Given the description of an element on the screen output the (x, y) to click on. 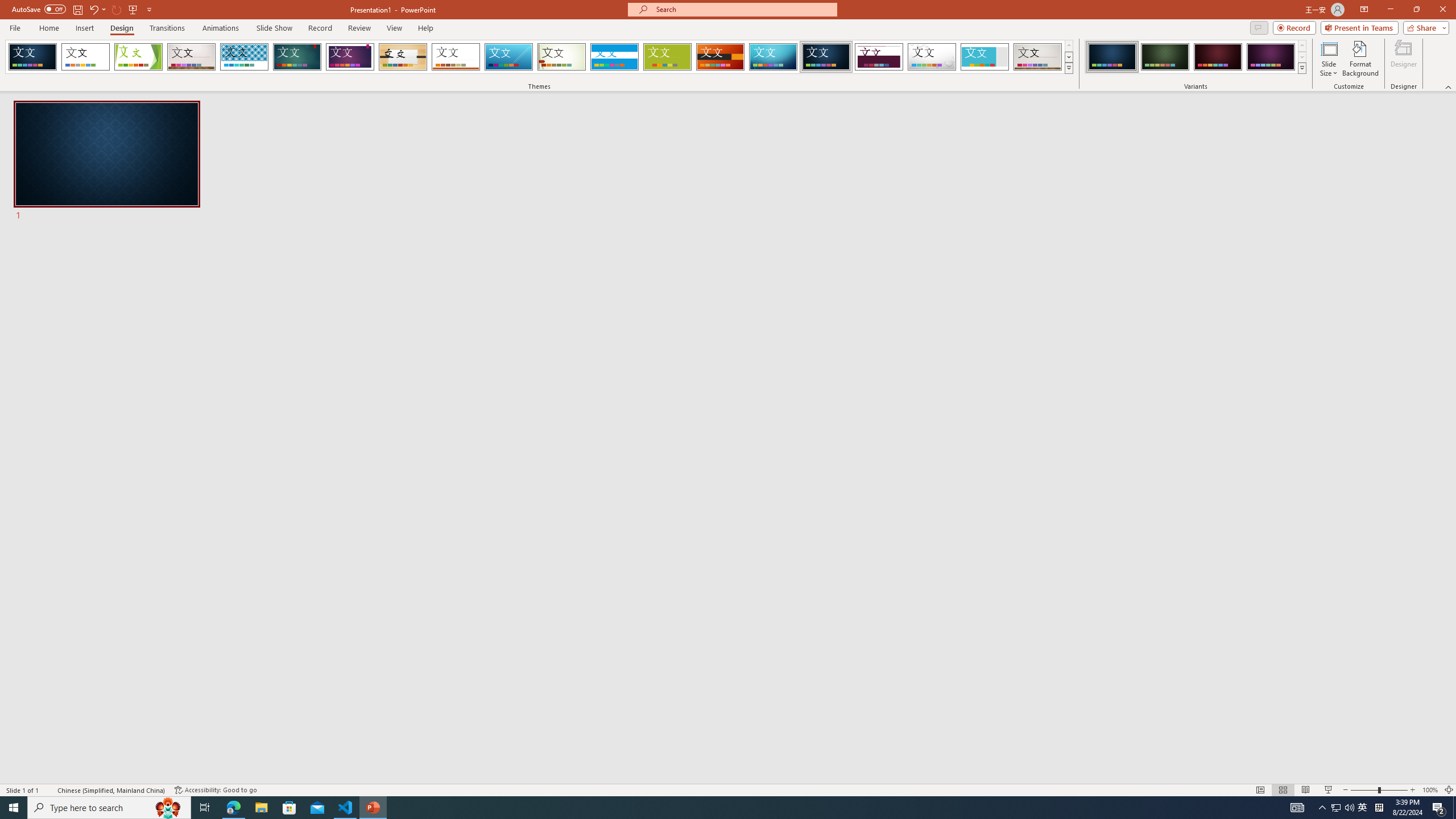
Damask Variant 2 (1164, 56)
Ion Boardroom Loading Preview... (350, 56)
Damask Loading Preview... (826, 56)
Office Theme (85, 56)
Gallery (191, 56)
Damask Variant 1 (1112, 56)
